Given the description of an element on the screen output the (x, y) to click on. 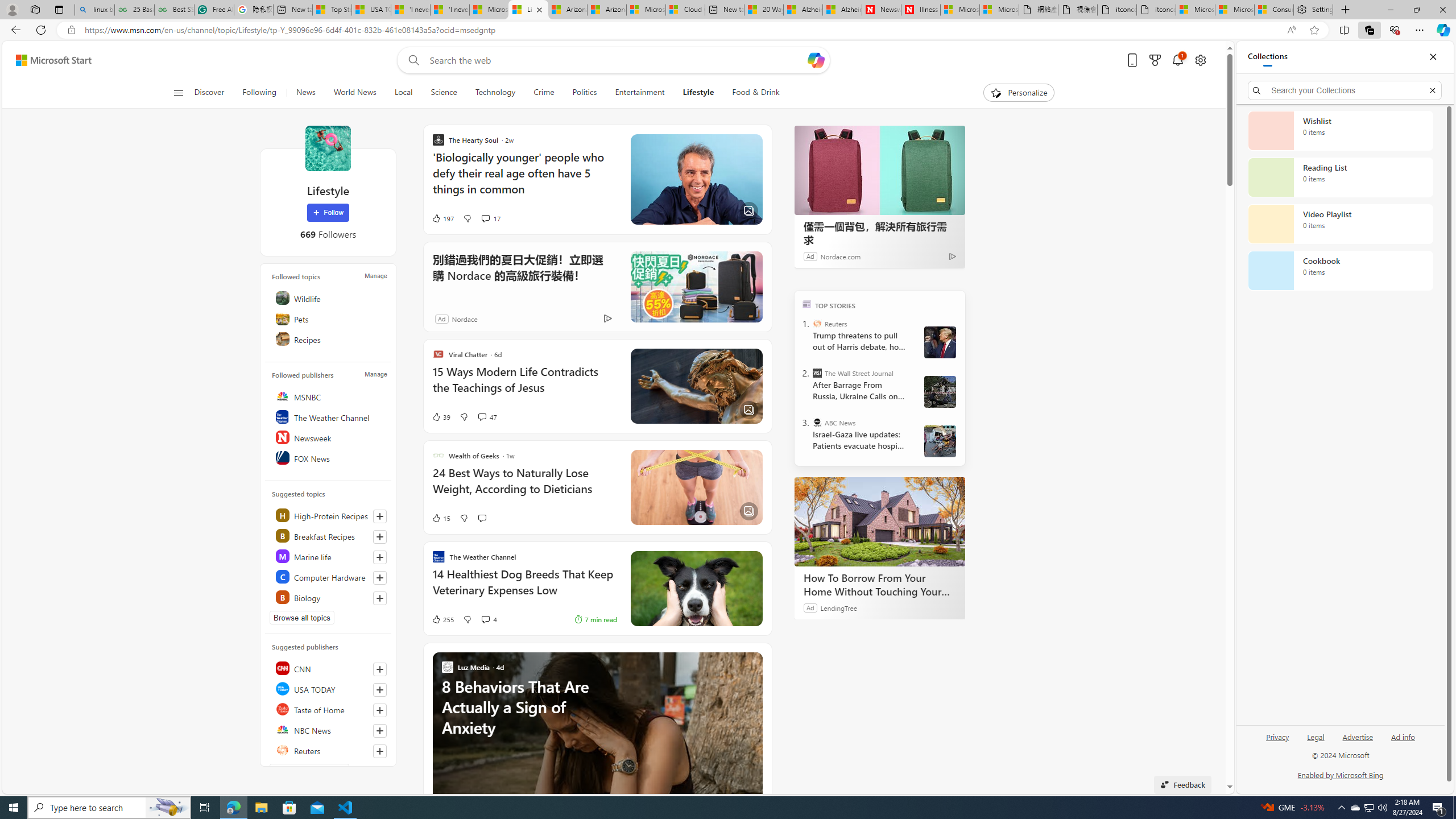
Video Playlist collection, 0 items (1339, 223)
Advertise (1357, 736)
Recipes (328, 339)
MSNBC (328, 396)
NBC News (328, 729)
Tab actions menu (58, 9)
Feedback (1182, 784)
Follow this topic (379, 598)
World News (354, 92)
197 Like (442, 218)
Start the conversation (482, 517)
Legal (1315, 736)
